Given the description of an element on the screen output the (x, y) to click on. 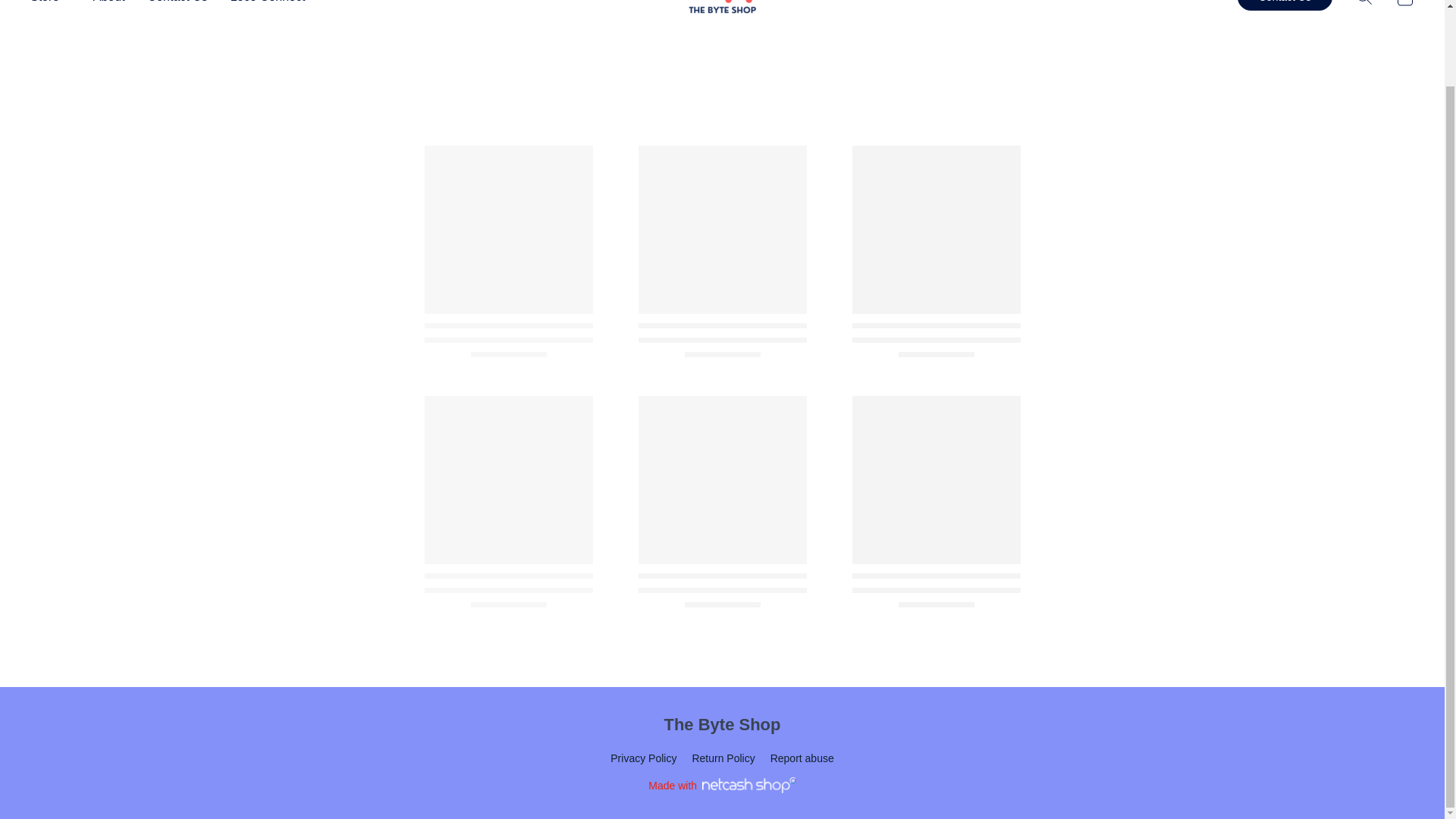
Made with (720, 785)
Store (55, 5)
Privacy Policy (643, 758)
Loco Connect (262, 5)
Go to your shopping cart (1404, 6)
Return Policy (722, 758)
Contact Us (177, 5)
Contact Us (1284, 4)
About (108, 5)
Report abuse (802, 758)
